Given the description of an element on the screen output the (x, y) to click on. 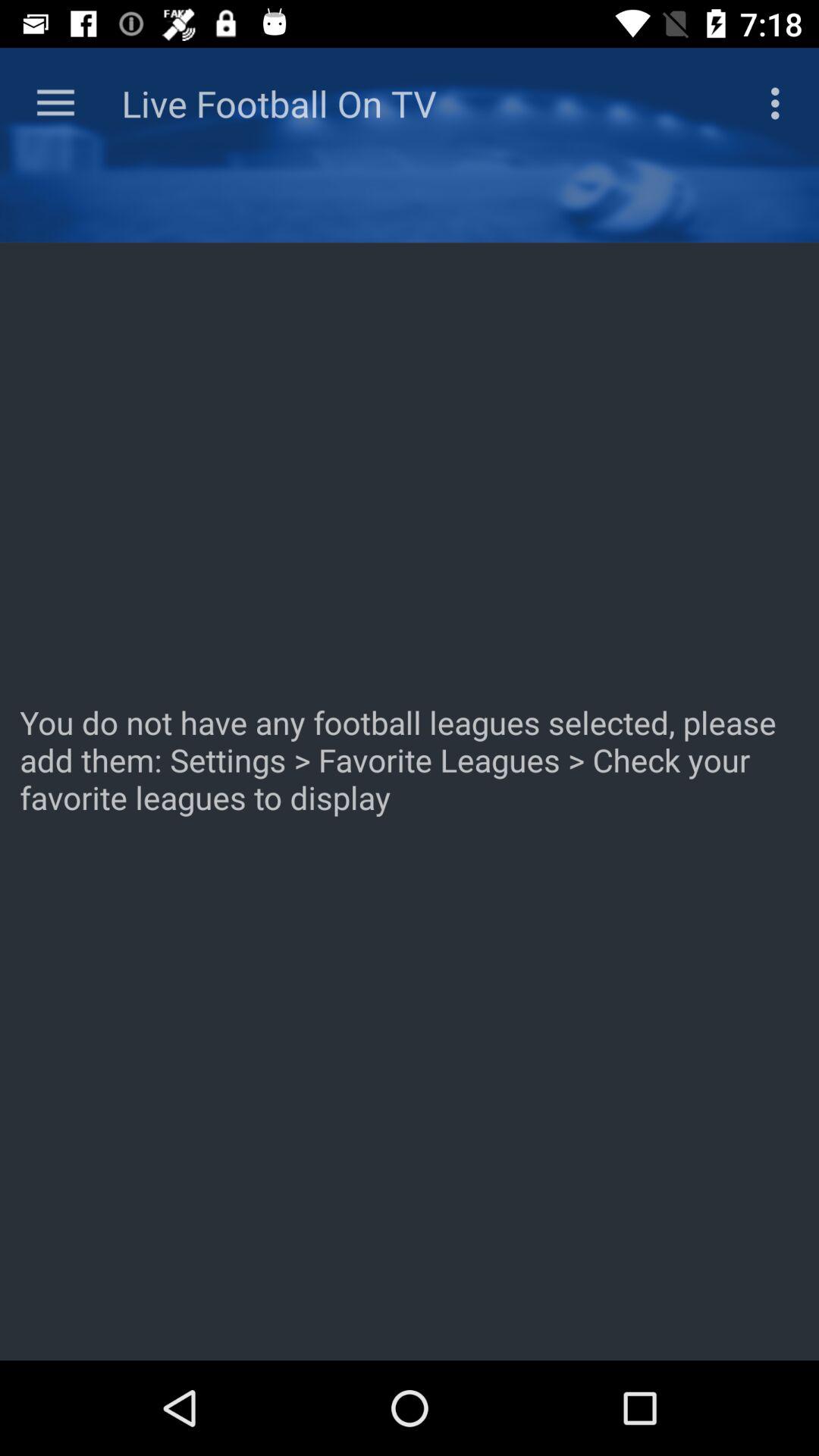
click the item to the right of live football on icon (779, 103)
